Given the description of an element on the screen output the (x, y) to click on. 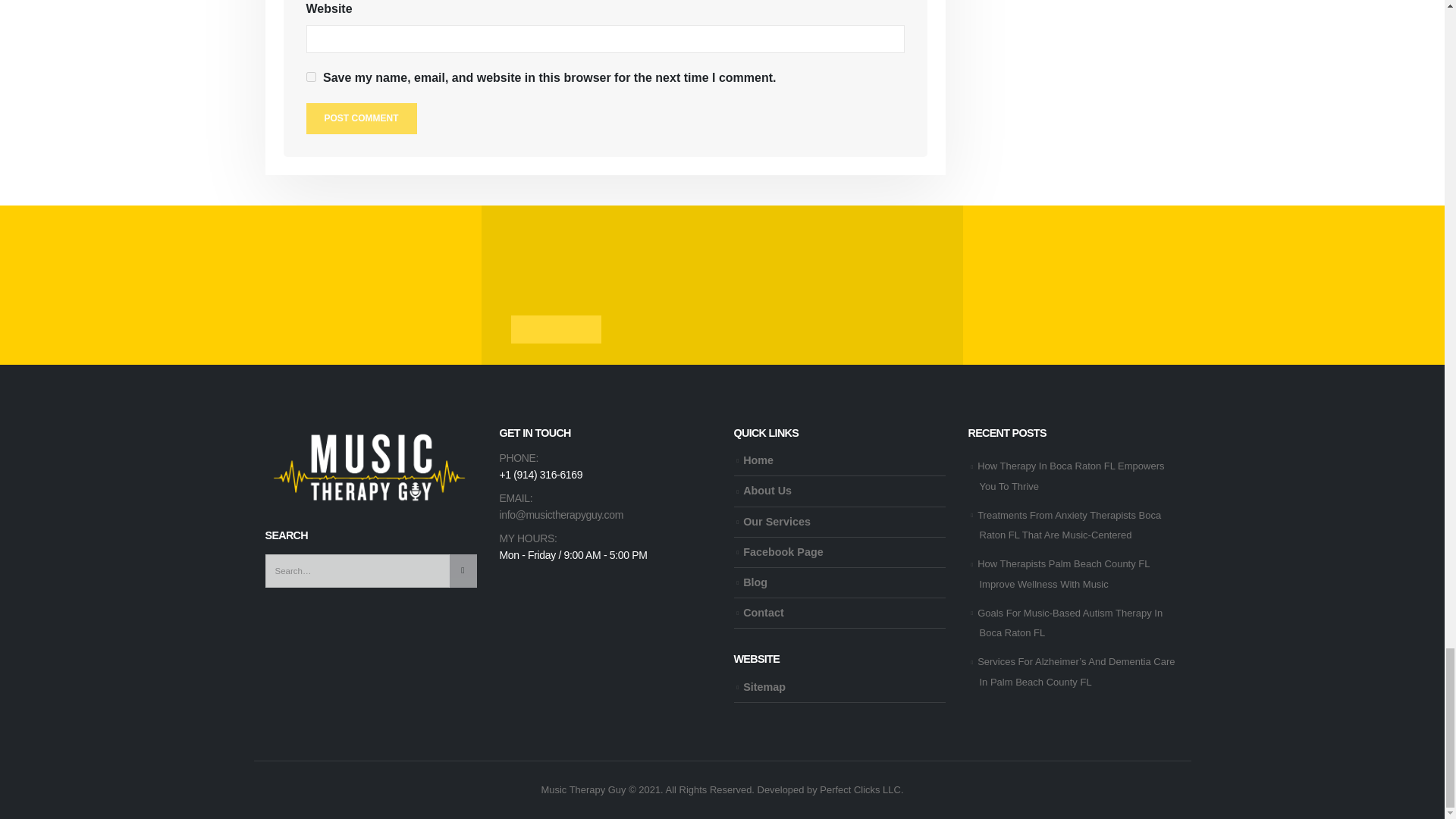
Post Comment (360, 118)
yes (310, 76)
Post Comment (360, 118)
